Given the description of an element on the screen output the (x, y) to click on. 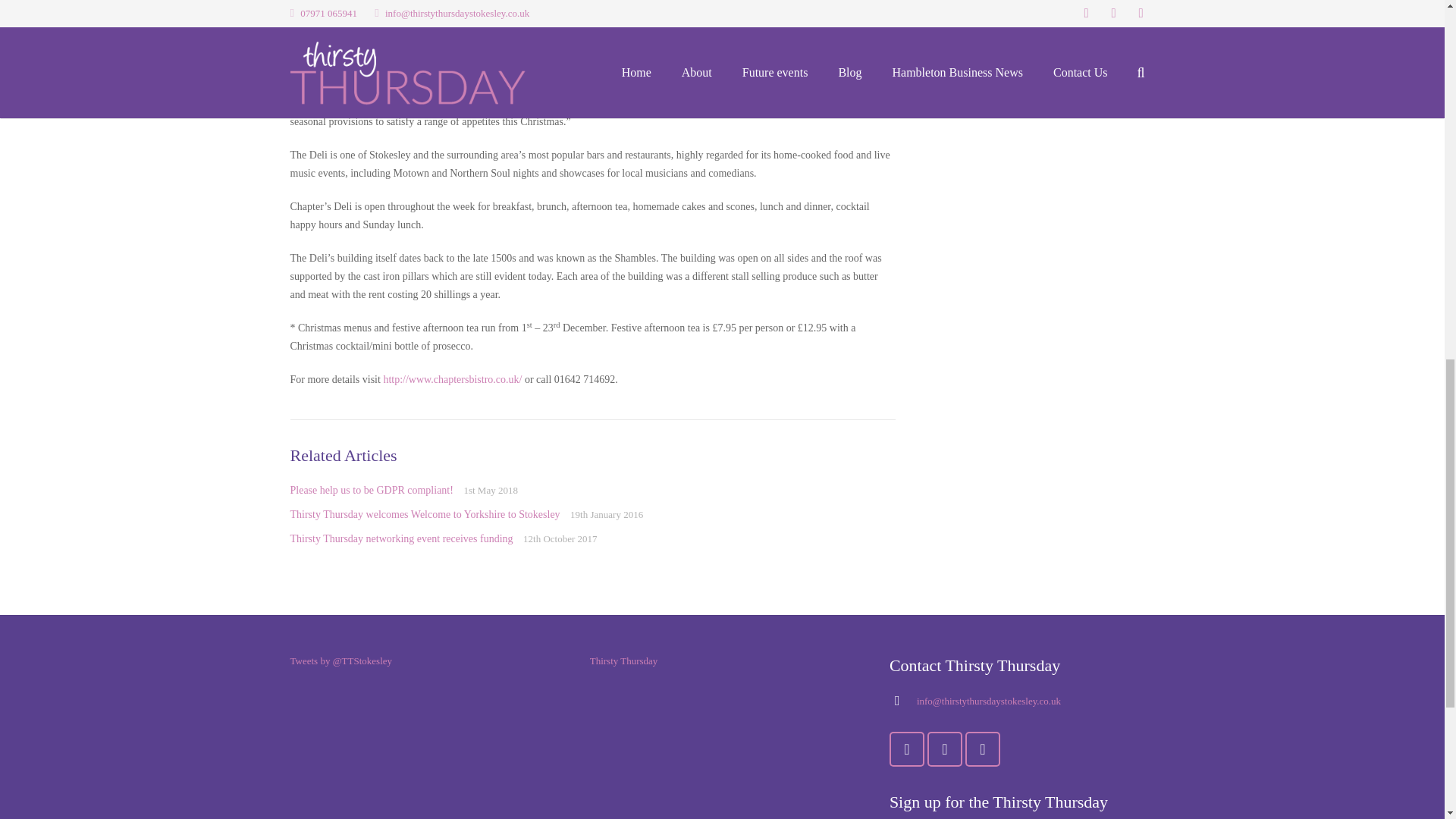
Thirsty Thursday welcomes Welcome to Yorkshire to Stokesley (424, 514)
Thirsty Thursday networking event receives funding (400, 538)
Please help us to be GDPR compliant! (370, 490)
Sign up (989, 45)
Thirsty Thursday (623, 660)
Sign up (989, 45)
